Given the description of an element on the screen output the (x, y) to click on. 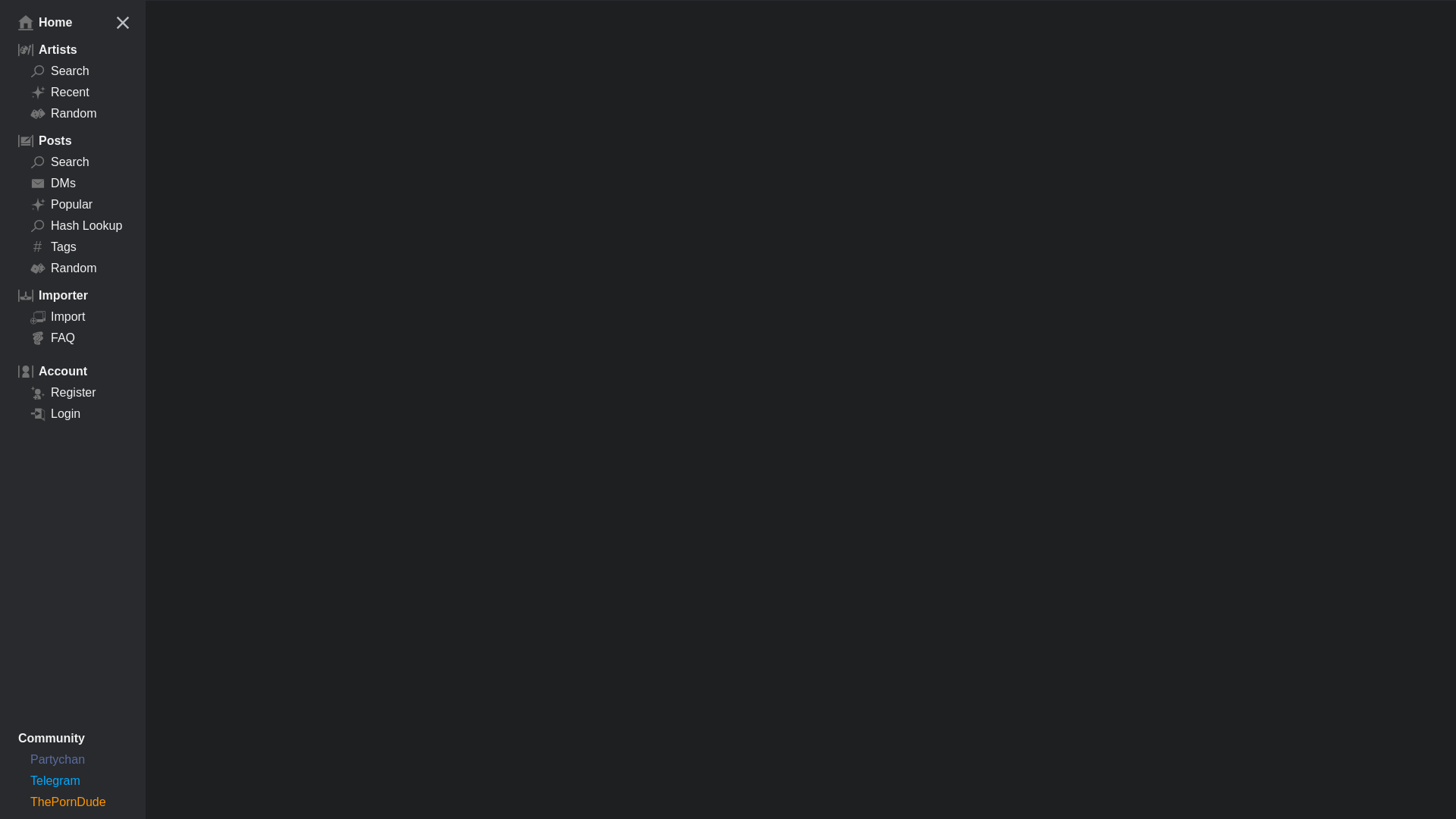
Register (72, 392)
DMs (72, 183)
Random (72, 113)
Telegram (72, 780)
Import (333, 0)
Import (72, 316)
FAQ (72, 337)
Artists (253, 0)
